Given the description of an element on the screen output the (x, y) to click on. 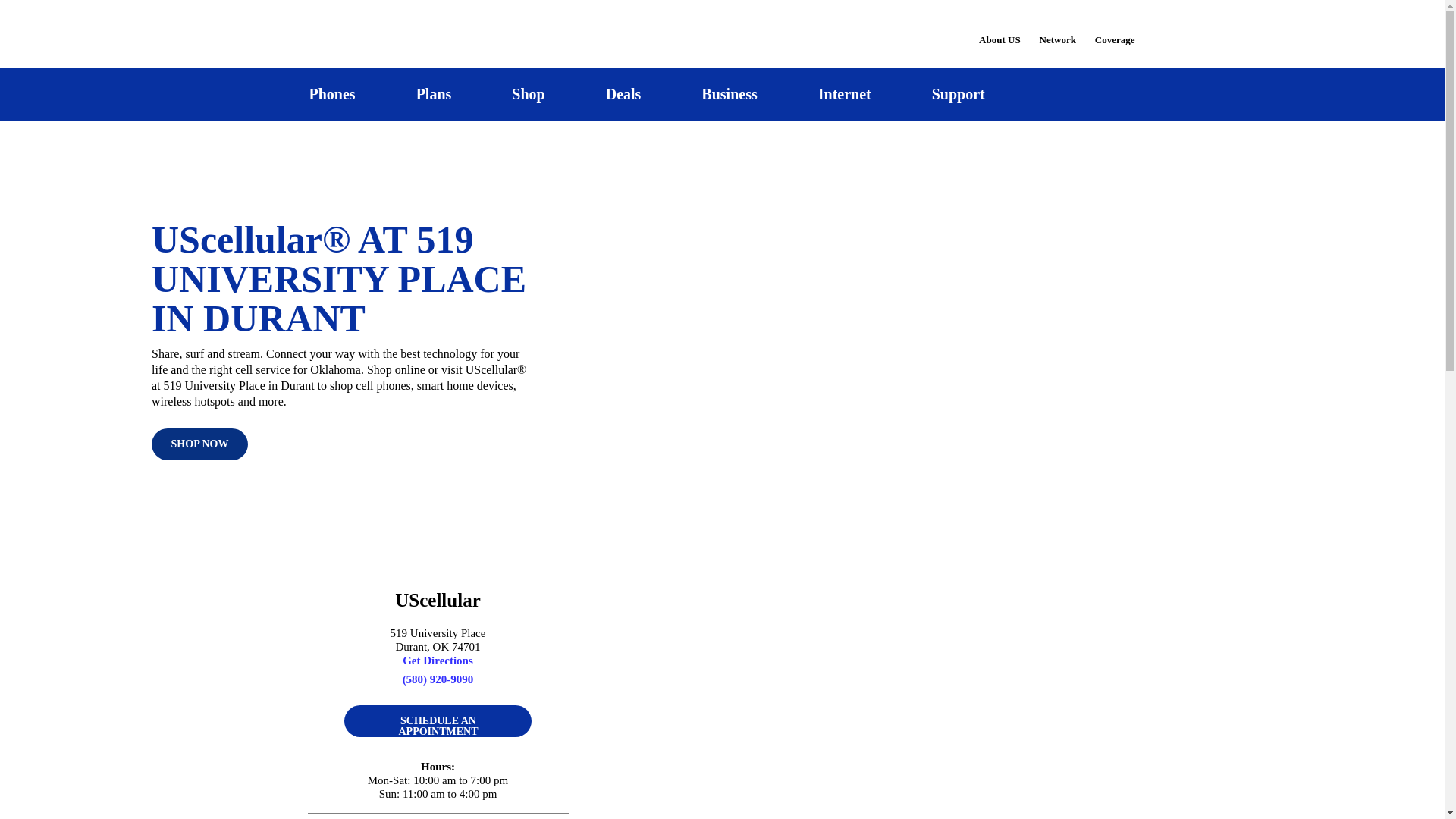
Deals (623, 94)
About US (999, 30)
Get Directions (438, 660)
SHOP NOW (199, 444)
SCHEDULE AN APPOINTMENT (437, 721)
Plans (433, 94)
Shop (528, 94)
Phones (332, 94)
Business (729, 94)
Support (957, 94)
